Given the description of an element on the screen output the (x, y) to click on. 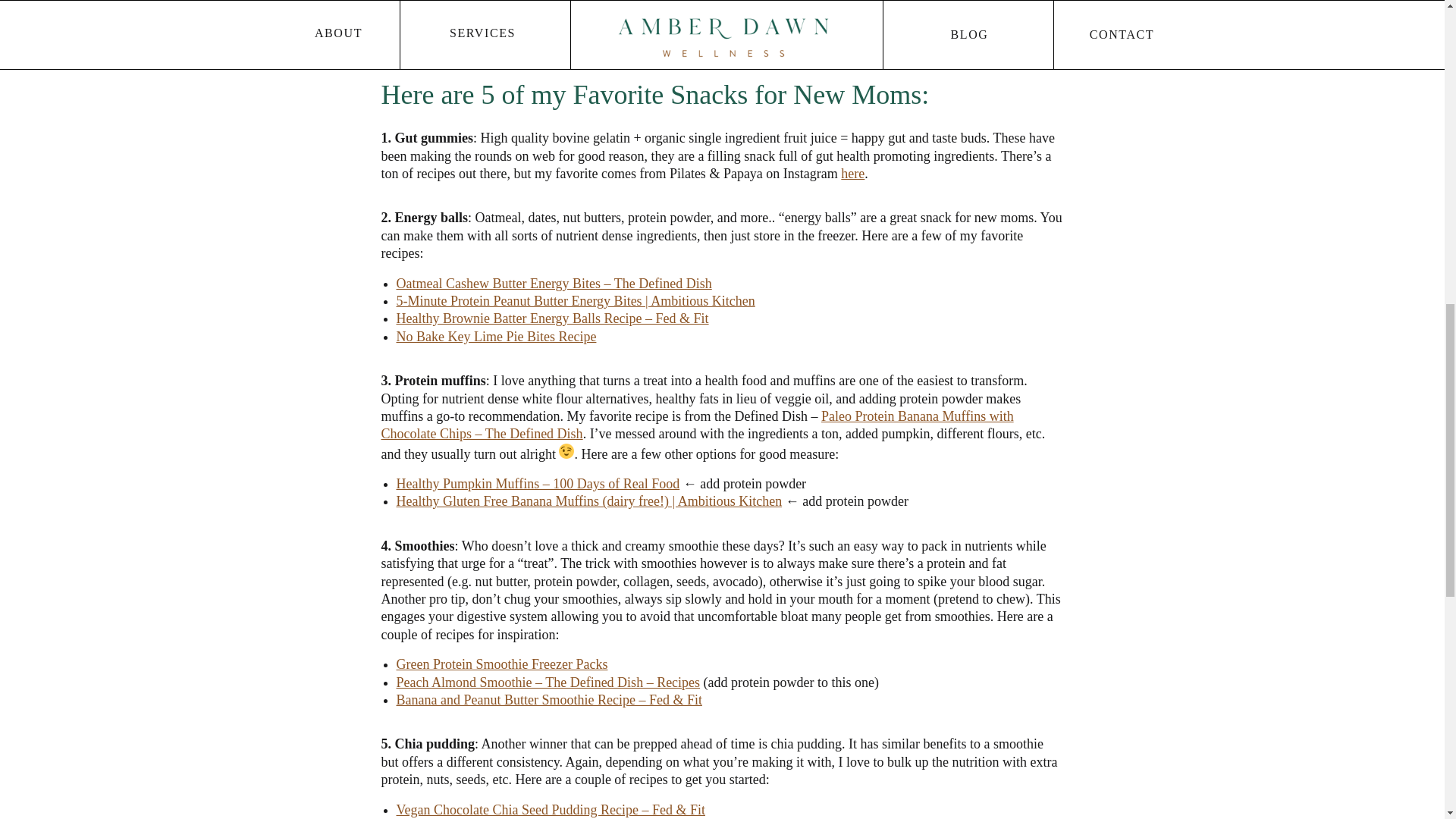
Green Protein Smoothie Freezer Packs (501, 663)
No Bake Key Lime Pie Bites Recipe (495, 336)
here (852, 173)
